Given the description of an element on the screen output the (x, y) to click on. 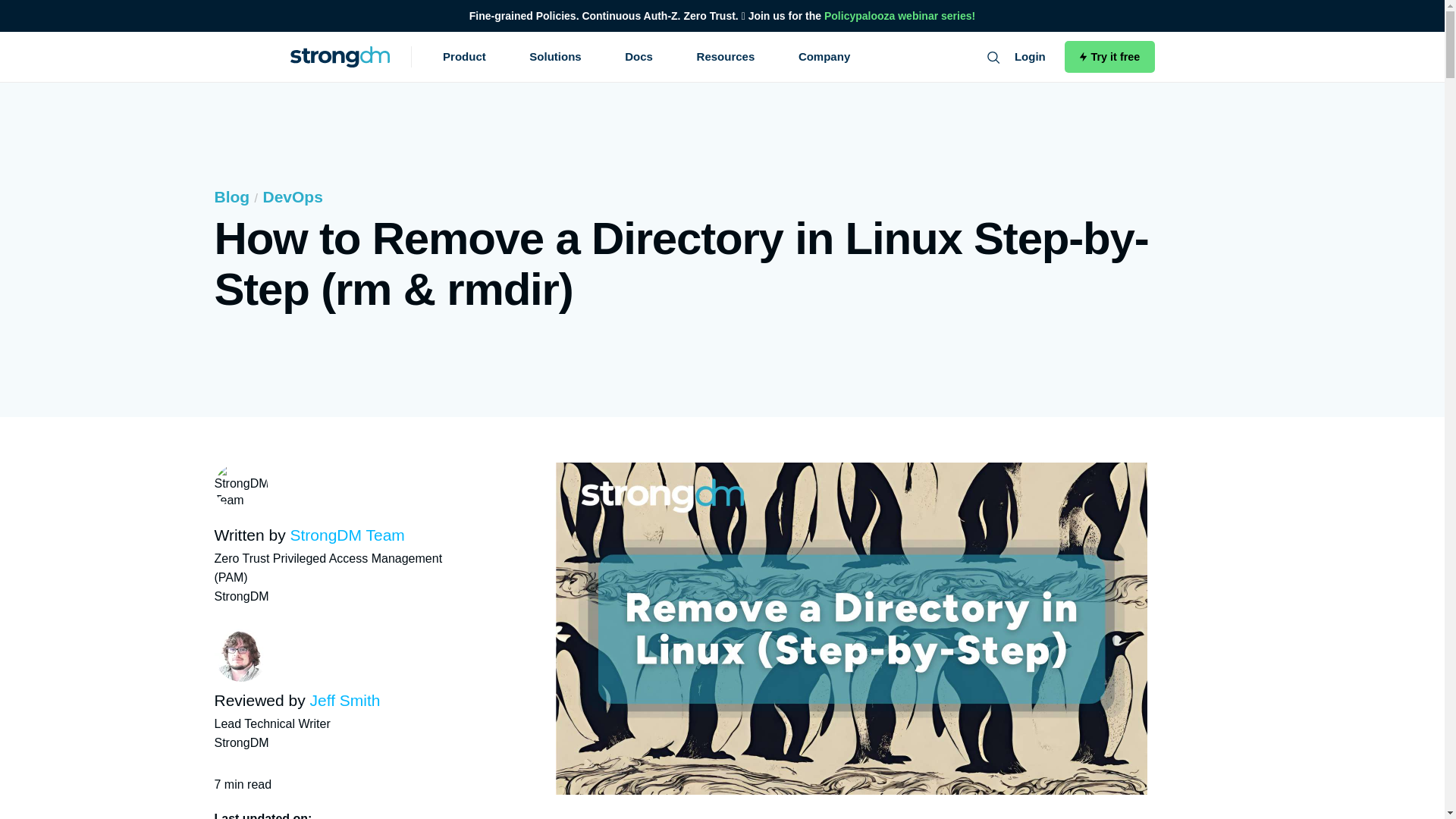
Resources (726, 56)
strongDM logo (339, 56)
Docs (638, 56)
Product (464, 56)
Solutions (554, 56)
Policypalooza webinar series! (899, 15)
